Given the description of an element on the screen output the (x, y) to click on. 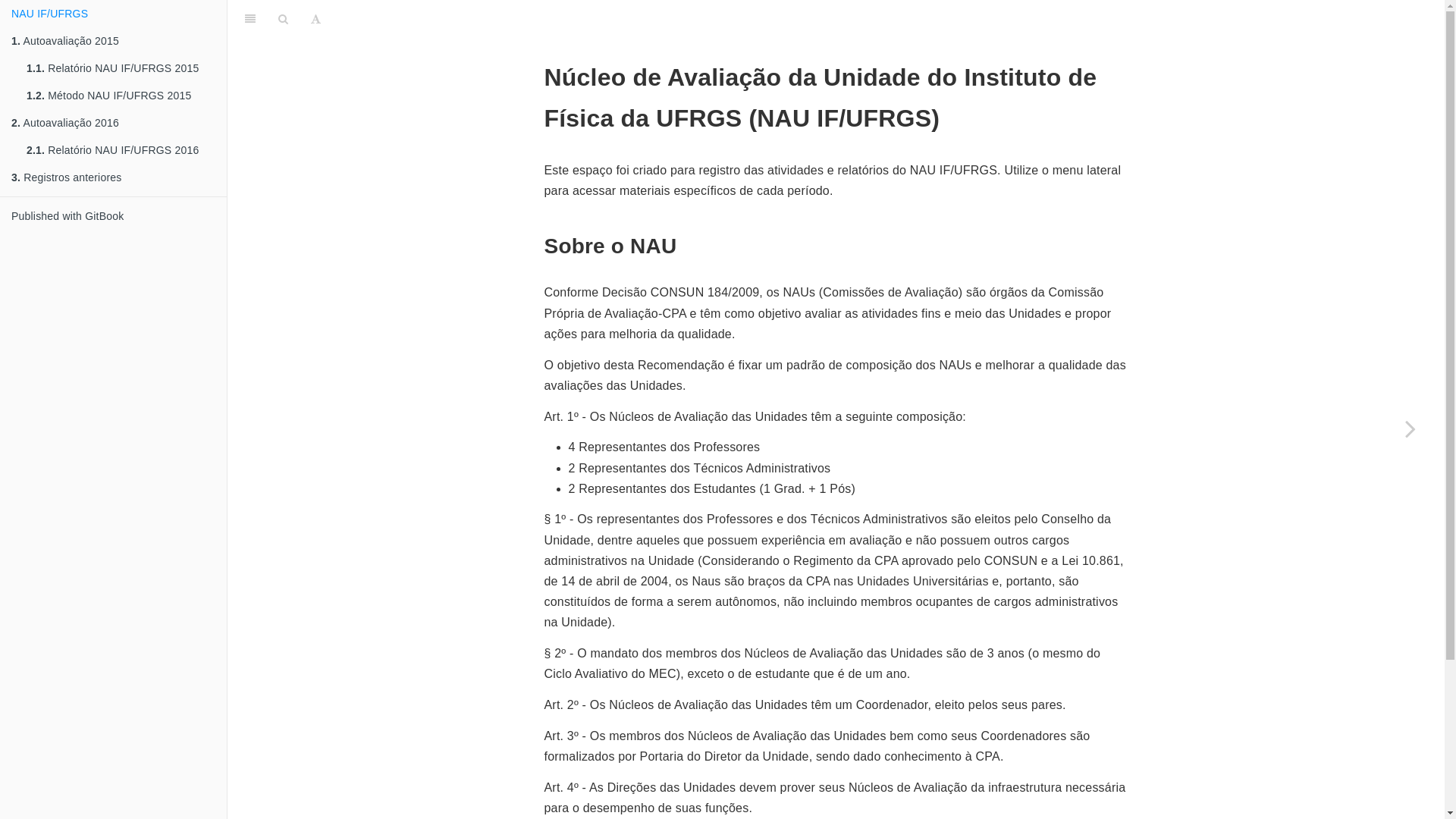
Published with GitBook Element type: text (113, 215)
3. Registros anteriores Element type: text (113, 177)
NAU IF/UFRGS Element type: text (113, 13)
